Given the description of an element on the screen output the (x, y) to click on. 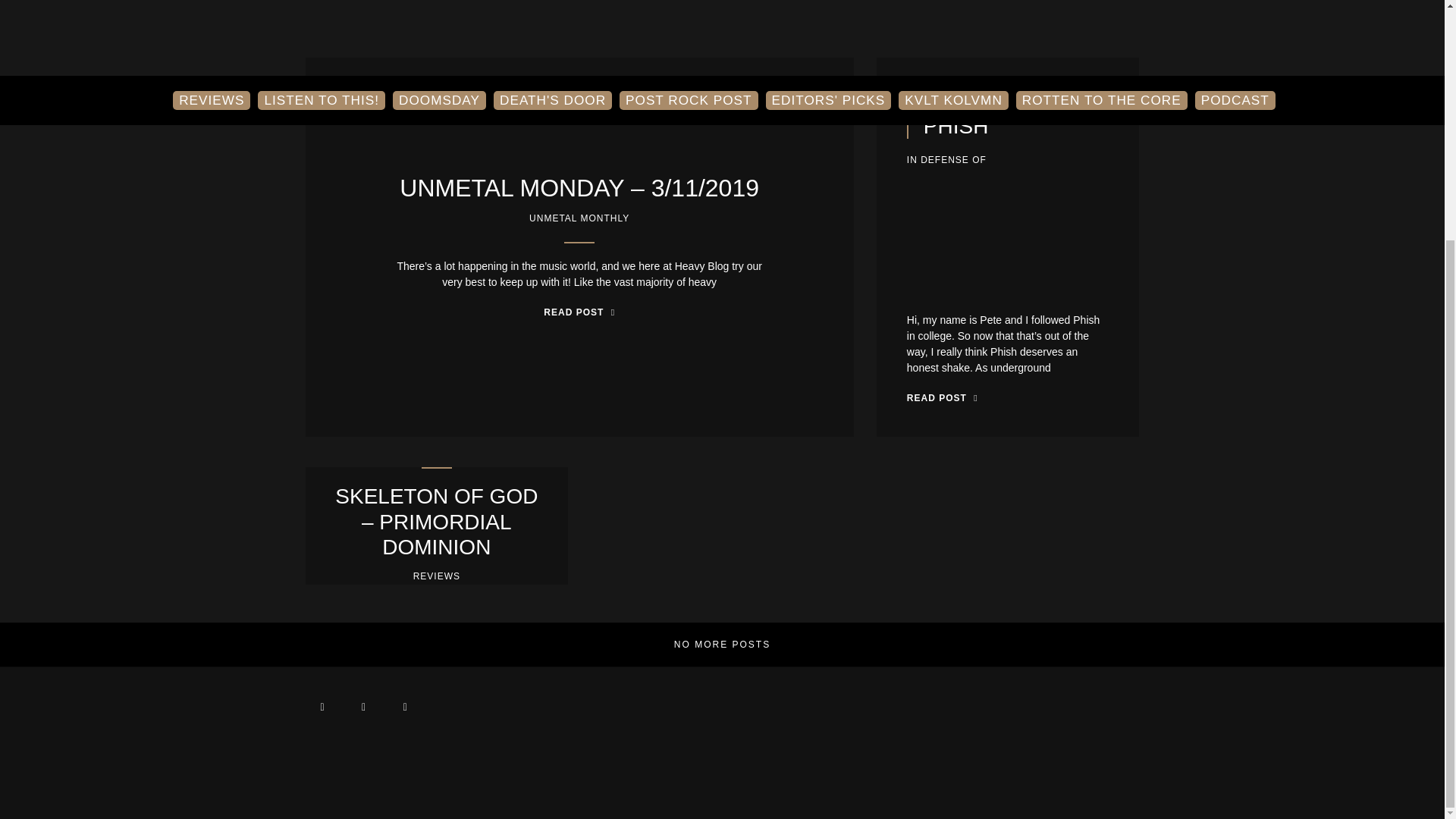
KVLT KOLVMN (952, 6)
PODCAST (1235, 6)
EDITORS' PICKS (828, 6)
UNMETAL MONTHLY (578, 218)
READ POST (942, 397)
POST ROCK POST (689, 6)
DEATH'S DOOR (552, 6)
DOOMSDAY (439, 6)
REVIEWS (436, 576)
REVIEWS (211, 6)
LISTEN TO THIS! (321, 6)
READ POST (578, 312)
ROTTEN TO THE CORE (1102, 6)
IN DEFENSE OF (947, 160)
